Given the description of an element on the screen output the (x, y) to click on. 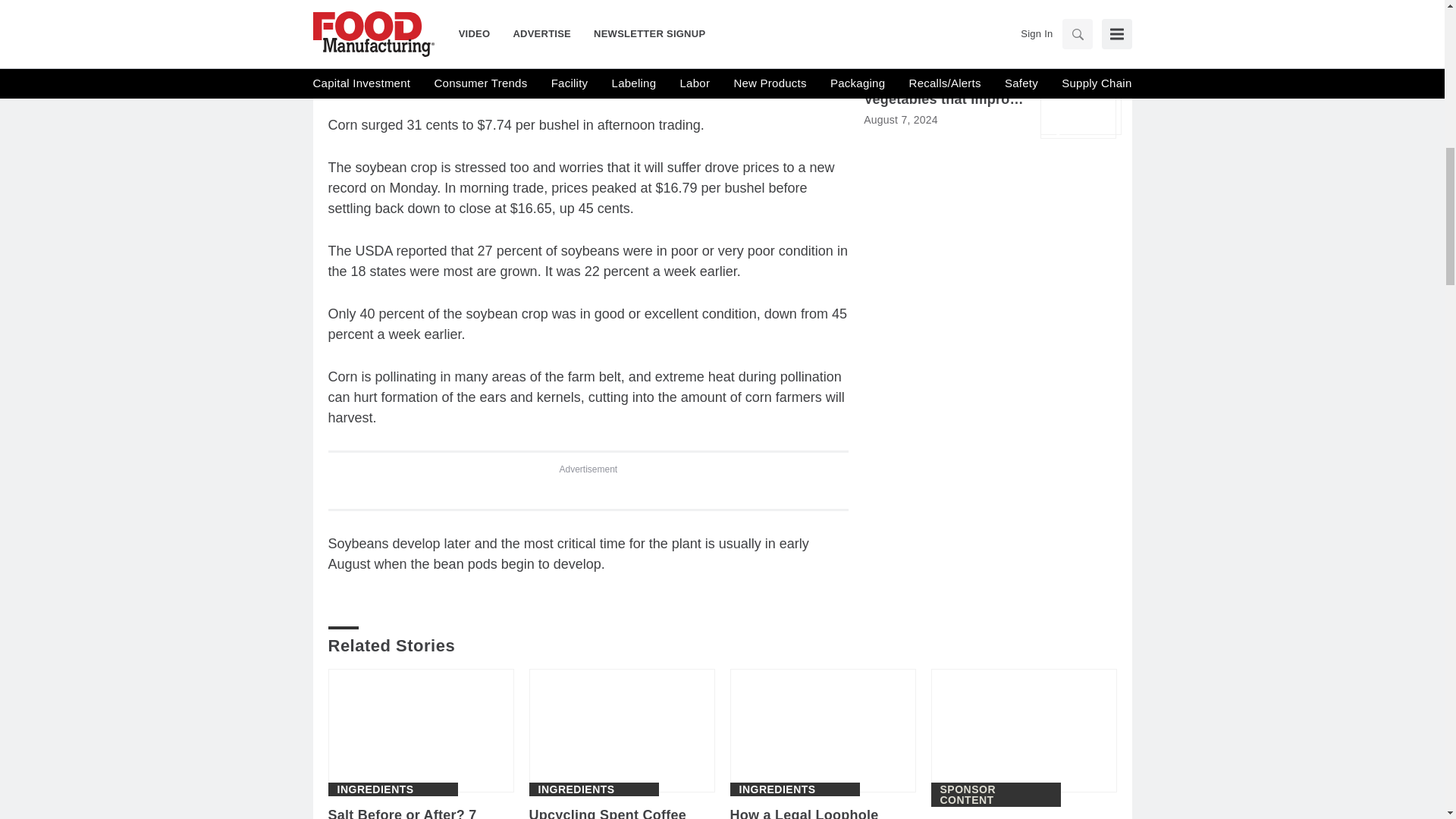
Ingredients (776, 788)
Ingredients (374, 788)
Ingredients (576, 788)
Sponsor Content (996, 794)
